Given the description of an element on the screen output the (x, y) to click on. 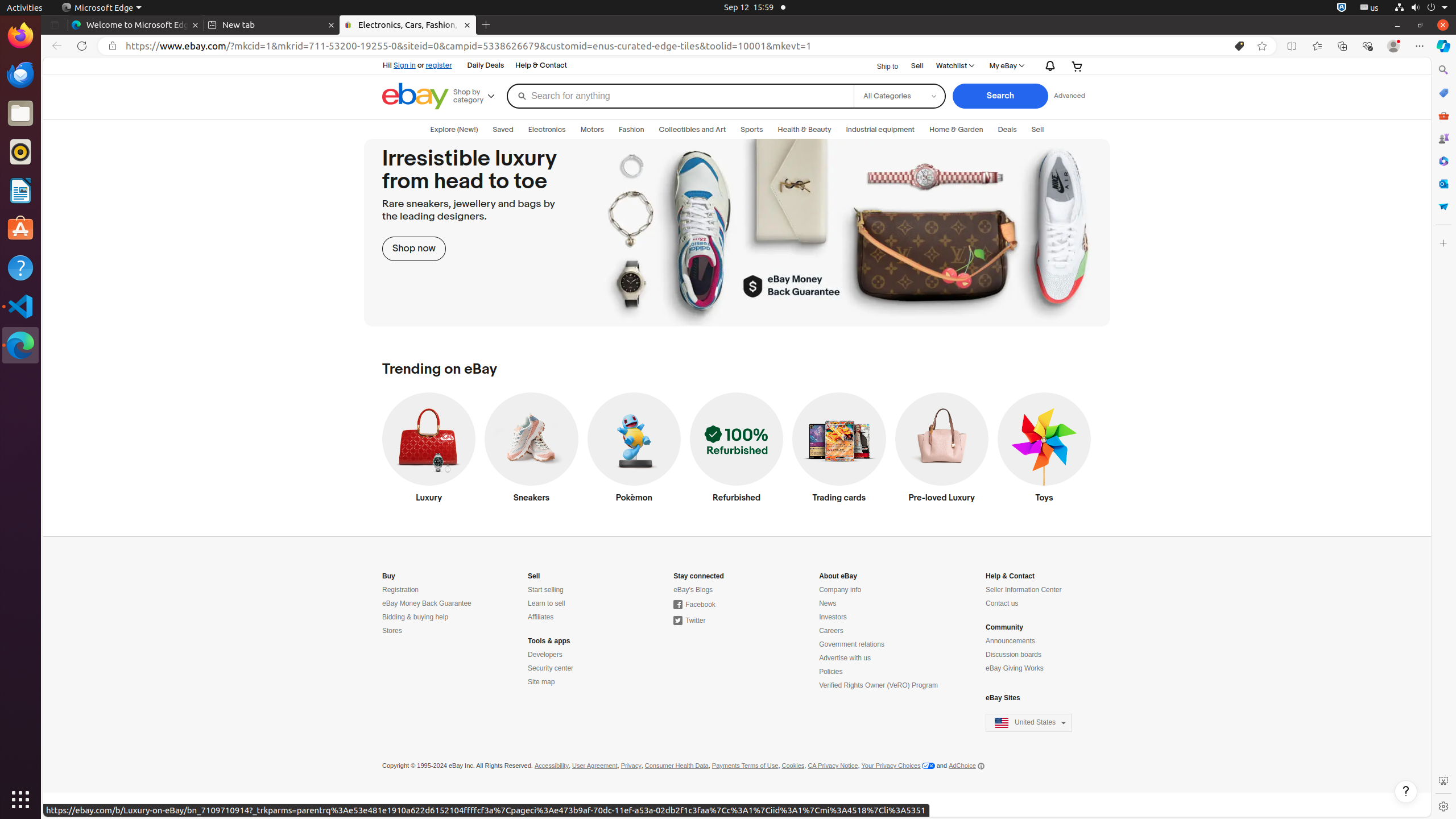
Toys Element type: link (1044, 450)
:1.72/StatusNotifierItem Element type: menu (1341, 7)
:1.21/StatusNotifierItem Element type: menu (1369, 7)
Drop Element type: push-button (1443, 206)
Irresistible luxury from head to toe Element type: link (737, 232)
